Given the description of an element on the screen output the (x, y) to click on. 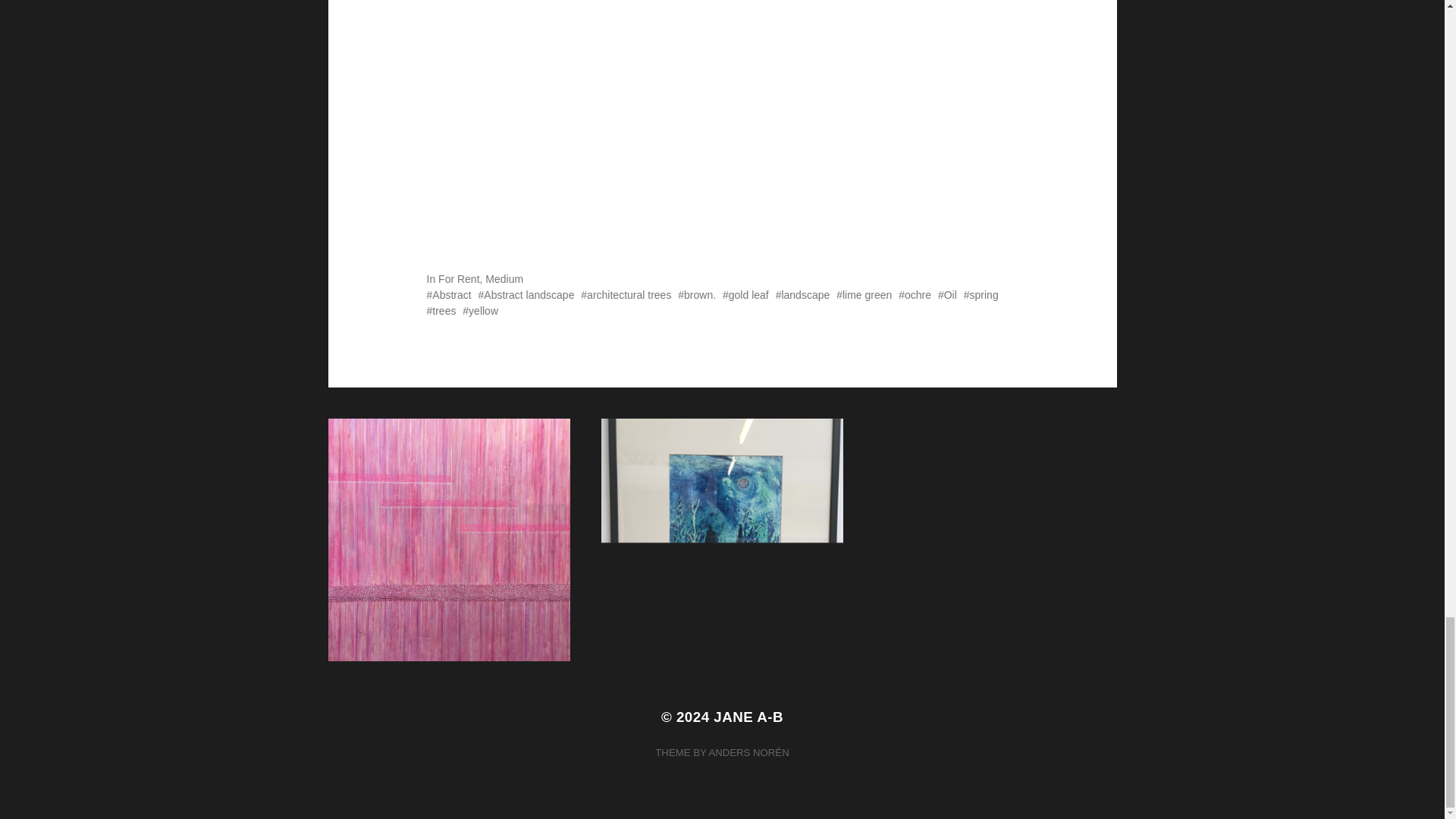
ochre (914, 295)
landscape (802, 295)
Oil (946, 295)
yellow (480, 310)
For Rent (458, 278)
spring (980, 295)
gold leaf (745, 295)
brown. (697, 295)
Abstract (448, 295)
trees (440, 310)
lime green (863, 295)
Abstract landscape (527, 295)
Medium (503, 278)
architectural trees (625, 295)
